Given the description of an element on the screen output the (x, y) to click on. 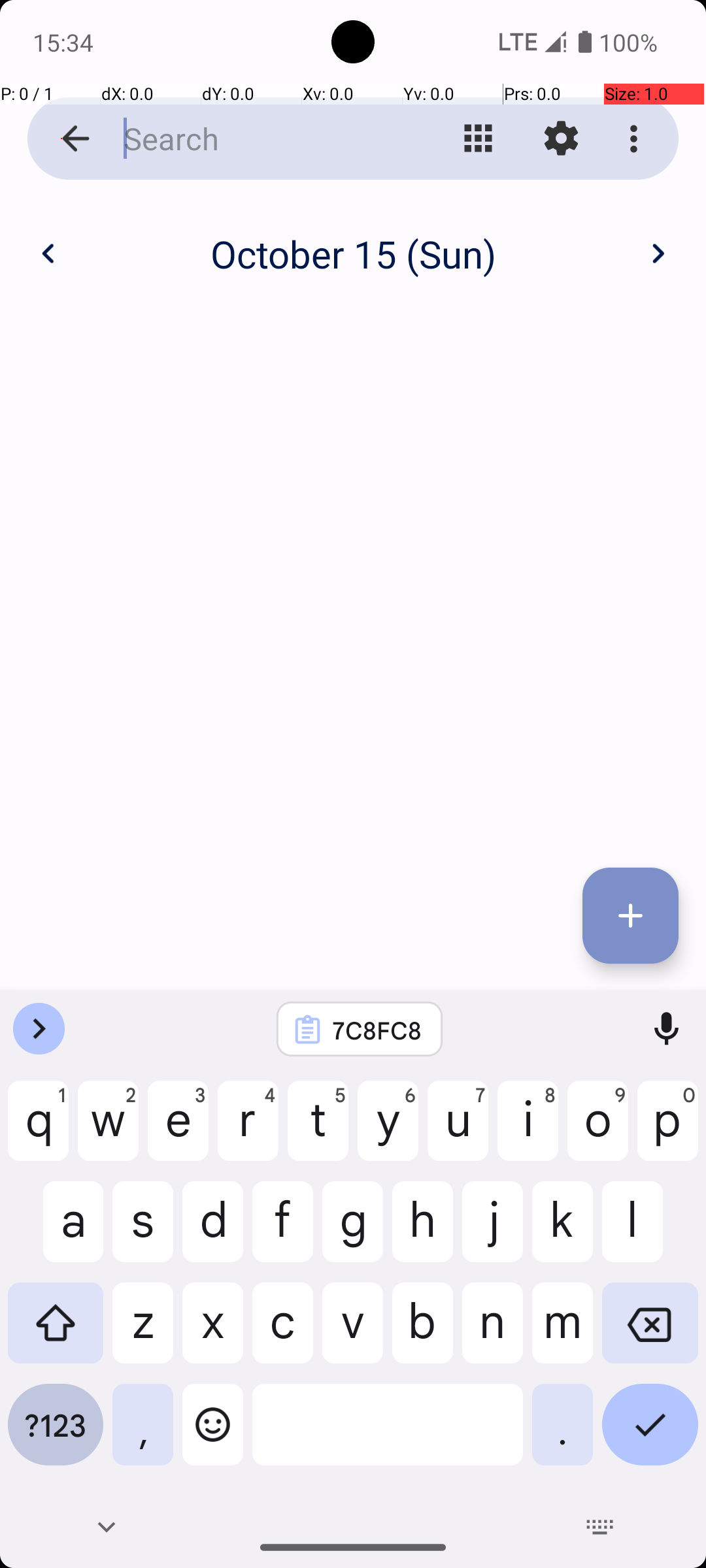
7C8FC8 Element type: android.widget.TextView (376, 1029)
